Given the description of an element on the screen output the (x, y) to click on. 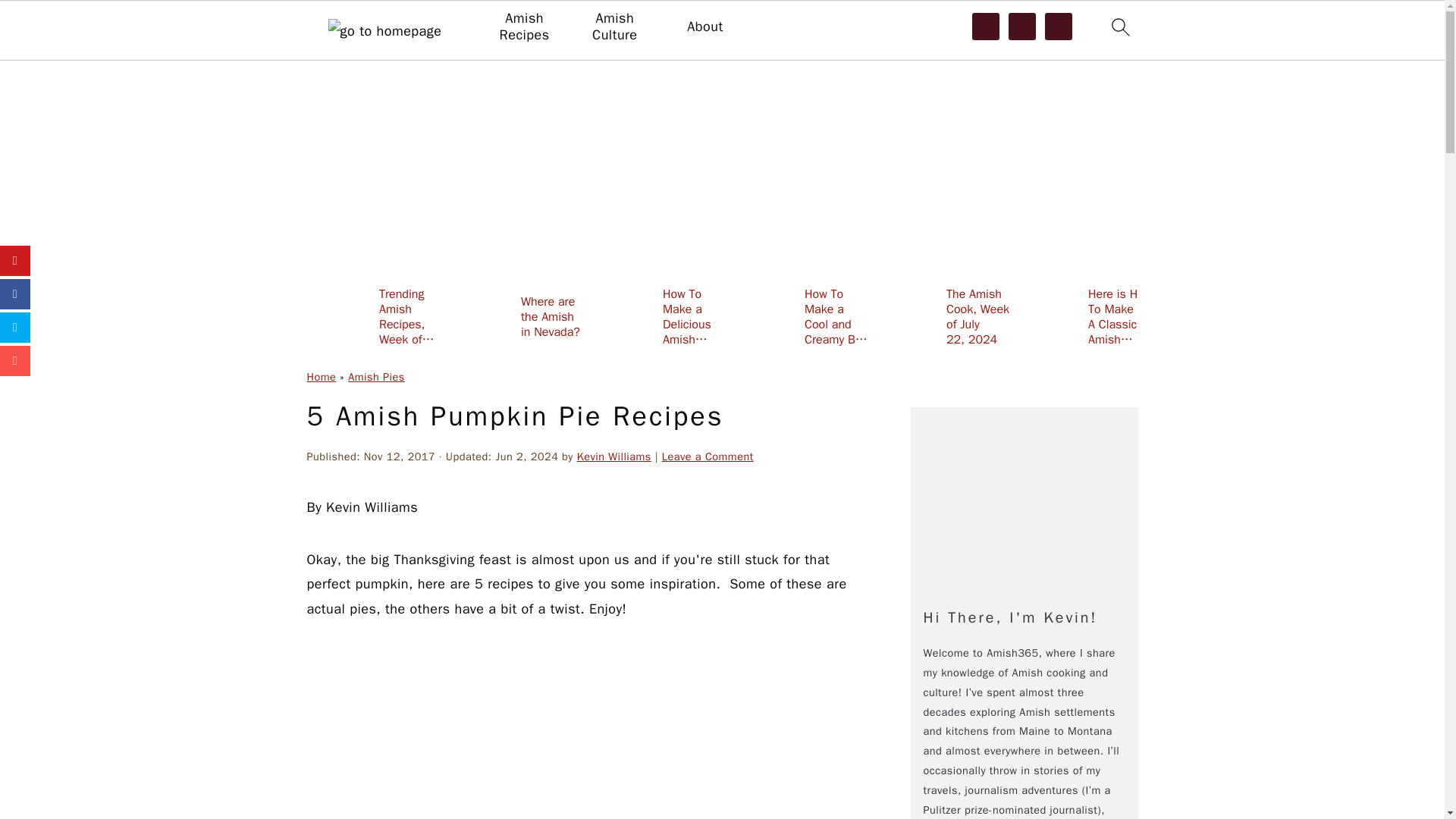
The Amish Cook, Week of July 22, 2024 (941, 316)
The Amish Cook, Week of July 16, 2024 (1367, 316)
Amish Culture (615, 26)
search icon (1119, 31)
search icon (1119, 26)
How To Make a Delicious Amish Zucchini Summer Scramble (657, 316)
Amish Recipes (523, 26)
About (704, 27)
Where are the Amish in Nevada? (516, 316)
